Given the description of an element on the screen output the (x, y) to click on. 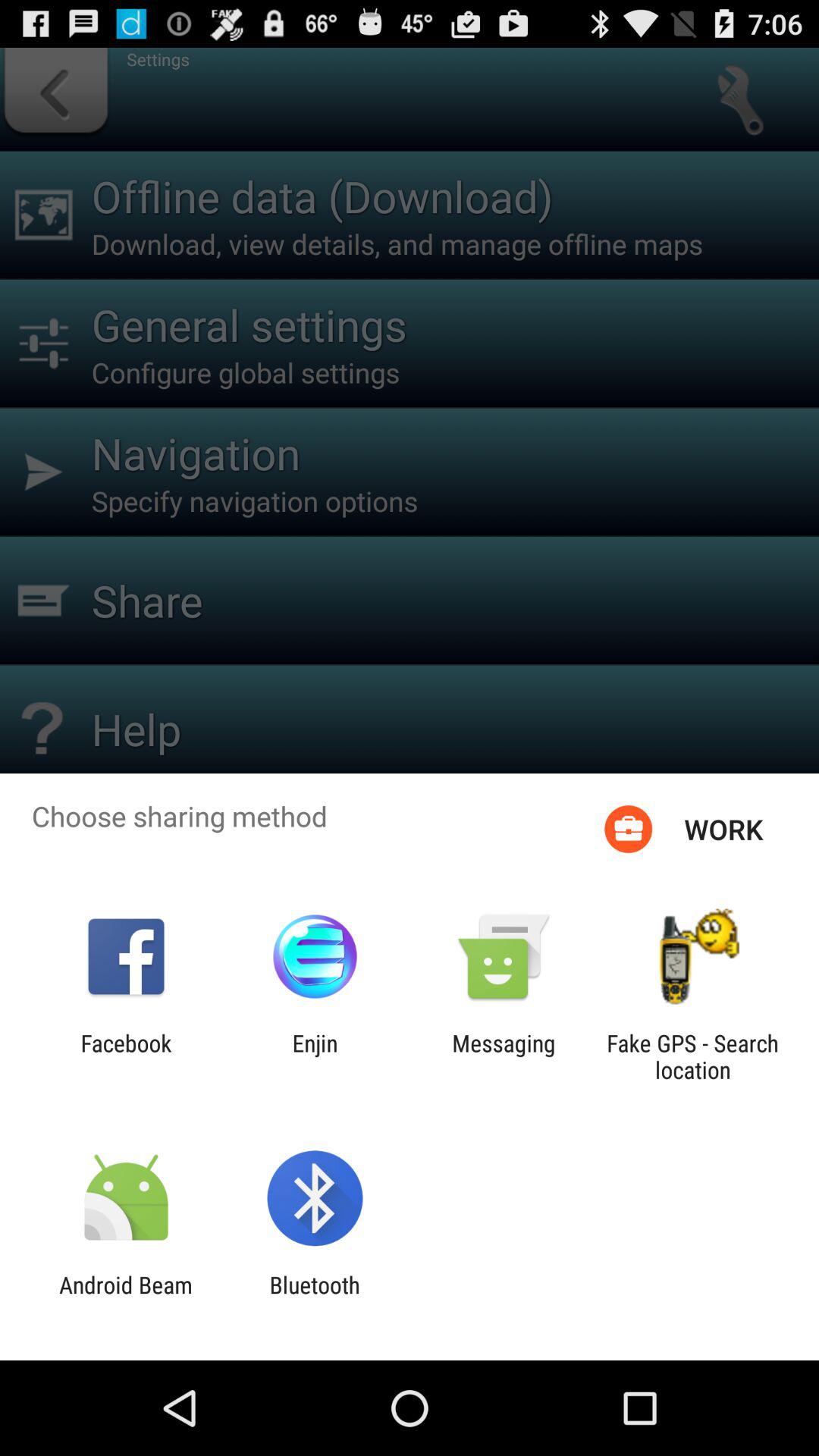
choose the app to the right of the android beam app (314, 1298)
